Given the description of an element on the screen output the (x, y) to click on. 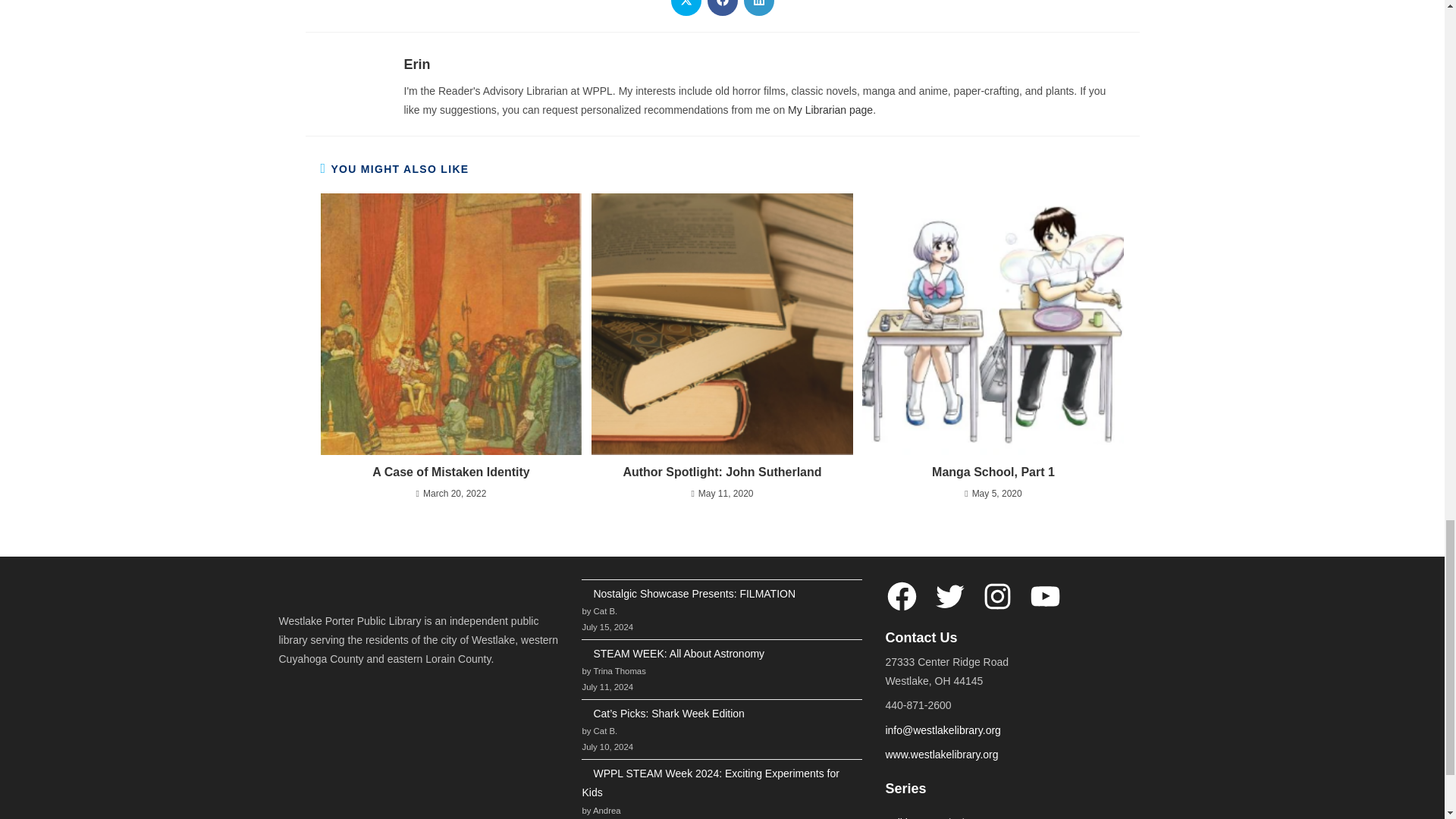
Visit author page (416, 64)
